Given the description of an element on the screen output the (x, y) to click on. 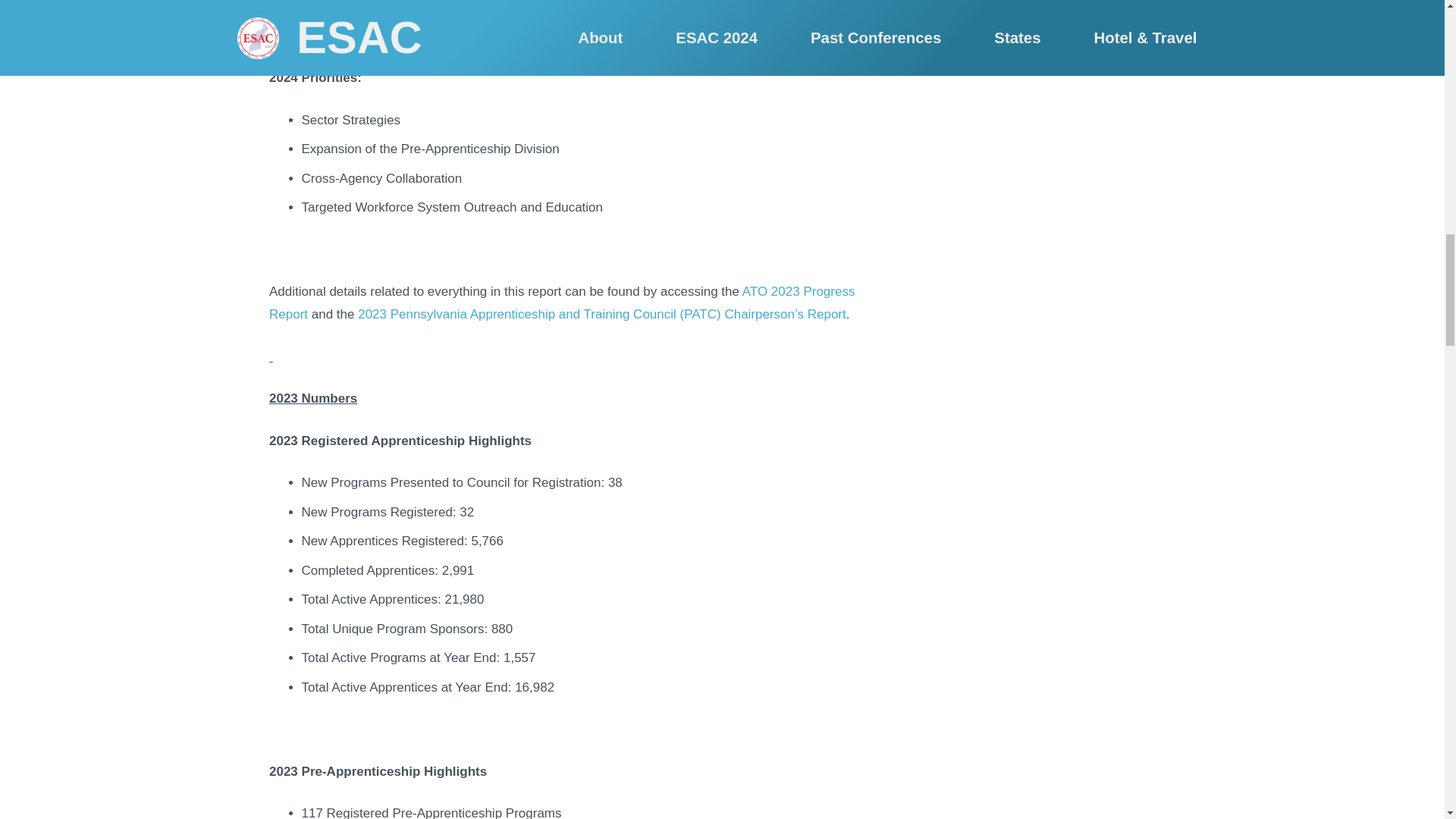
ATO 2023 Progress Report (561, 302)
